Given the description of an element on the screen output the (x, y) to click on. 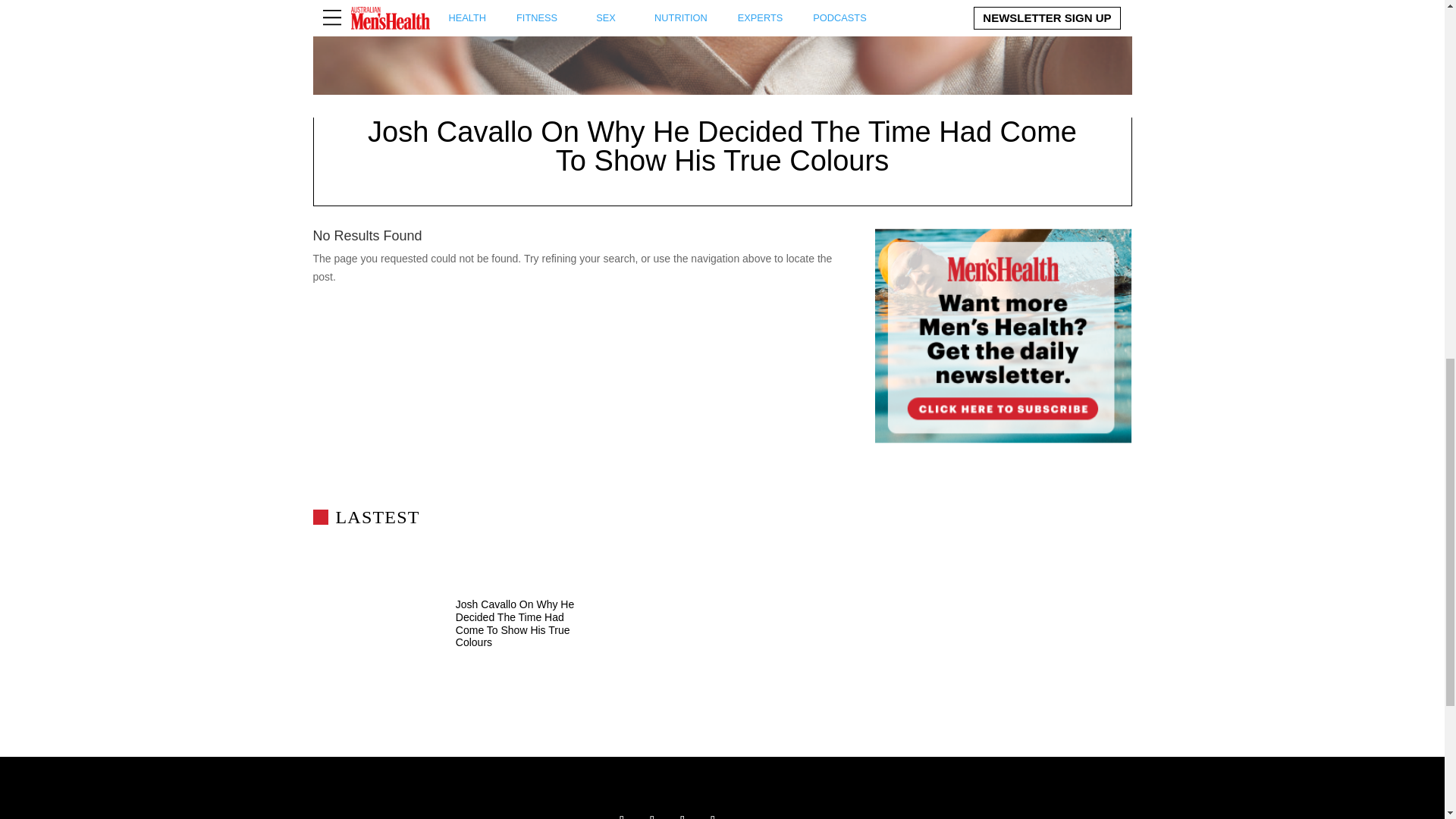
Follow on X (651, 813)
Follow on Instagram (681, 813)
Follow on Facebook (621, 813)
Follow on LinkedIn (712, 813)
